Given the description of an element on the screen output the (x, y) to click on. 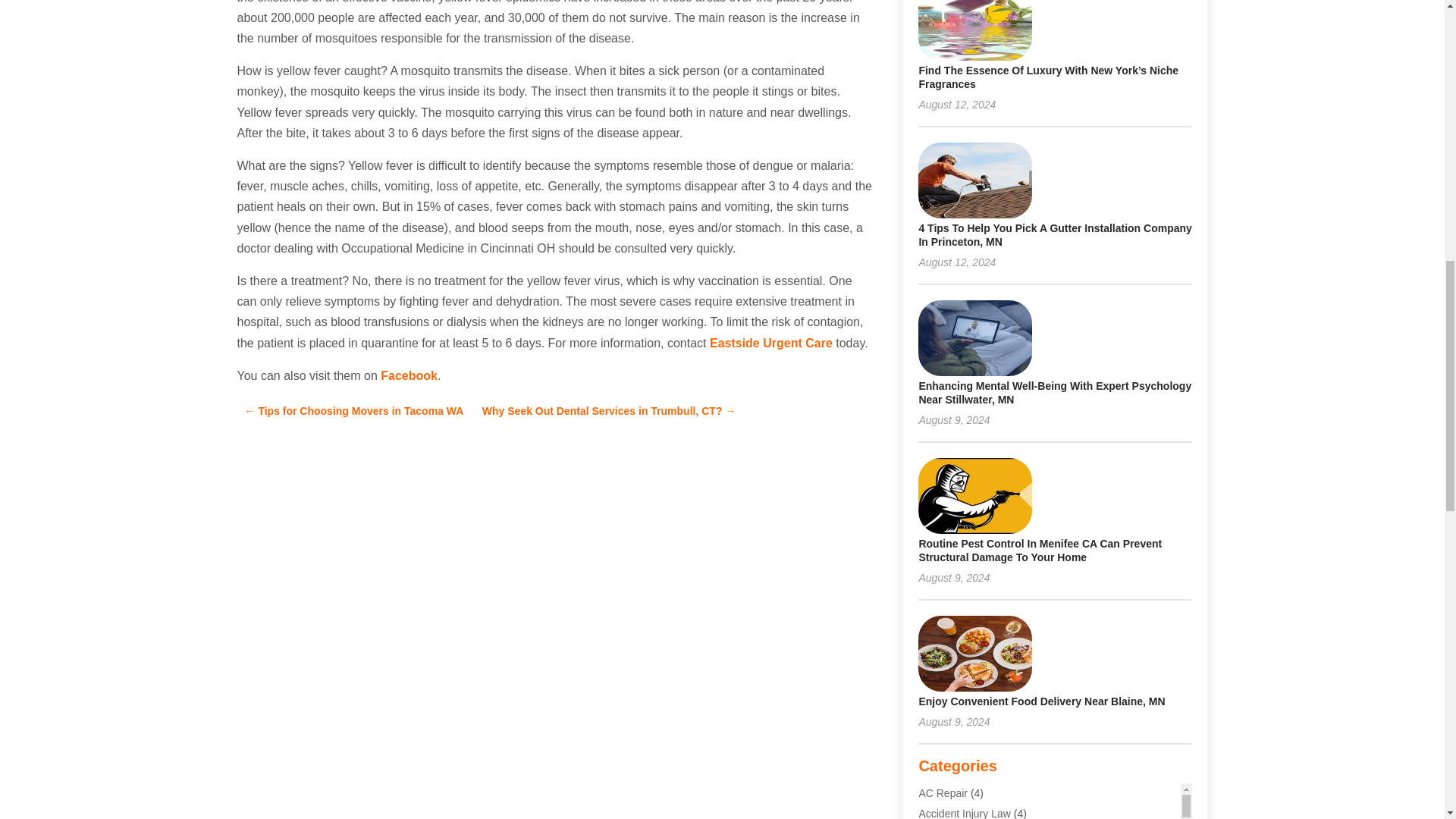
Enjoy Convenient Food Delivery Near Blaine, MN (1041, 701)
AC Repair (943, 793)
Accident Injury Law (964, 813)
Eastside Urgent Care (771, 342)
Facebook (409, 375)
